Given the description of an element on the screen output the (x, y) to click on. 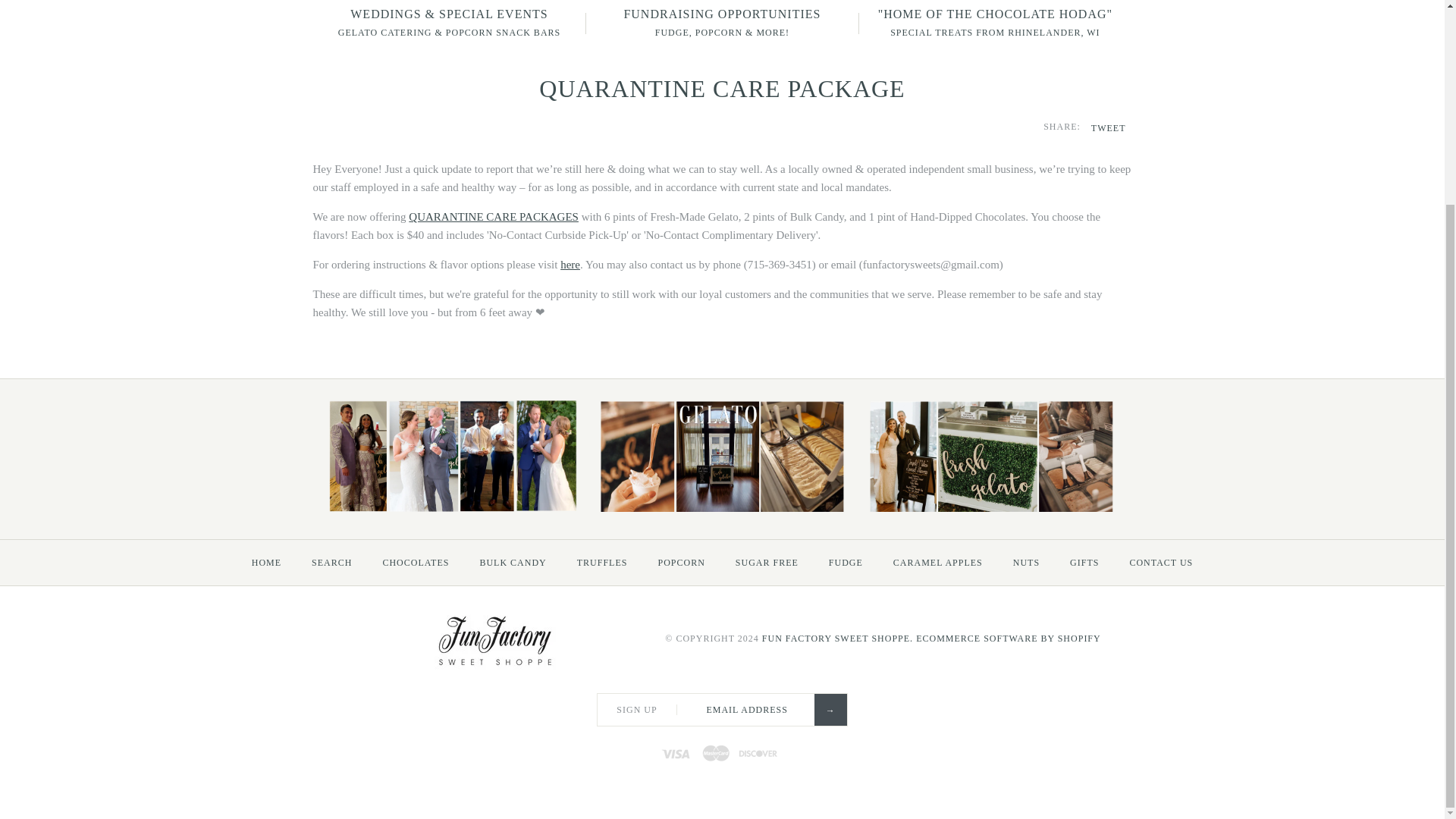
Quarantine Care Package (569, 264)
here (569, 264)
SUGAR FREE (767, 562)
CARAMEL APPLES (937, 562)
Quarantine Care Package (493, 216)
TWEET (1107, 127)
SEARCH (331, 562)
FUDGE (845, 562)
CHOCOLATES (415, 562)
POPCORN (680, 562)
BULK CANDY (512, 562)
HOME (266, 562)
NUTS (1025, 562)
QUARANTINE CARE PACKAGES (493, 216)
